Given the description of an element on the screen output the (x, y) to click on. 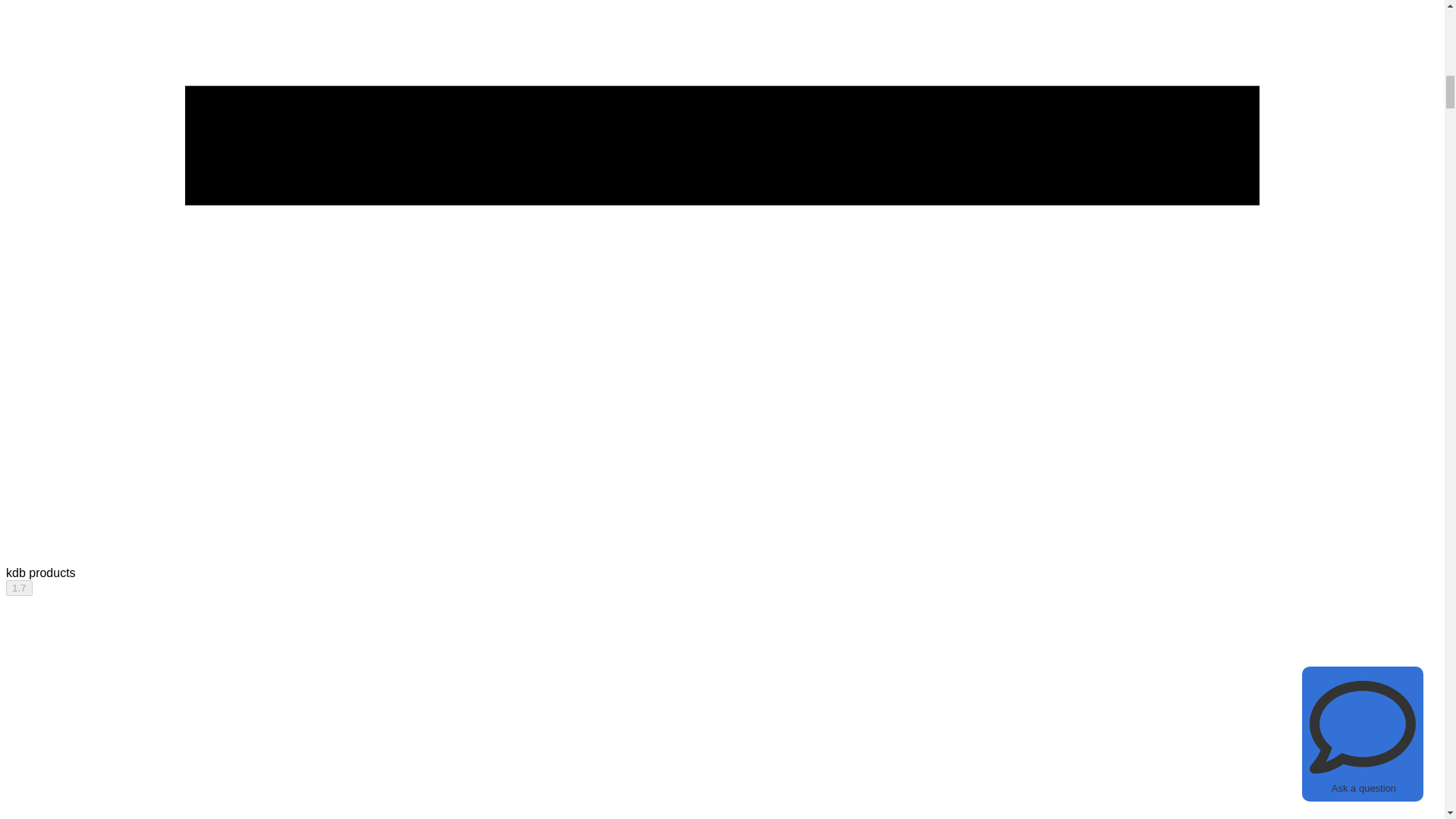
1.7 (18, 587)
